Given the description of an element on the screen output the (x, y) to click on. 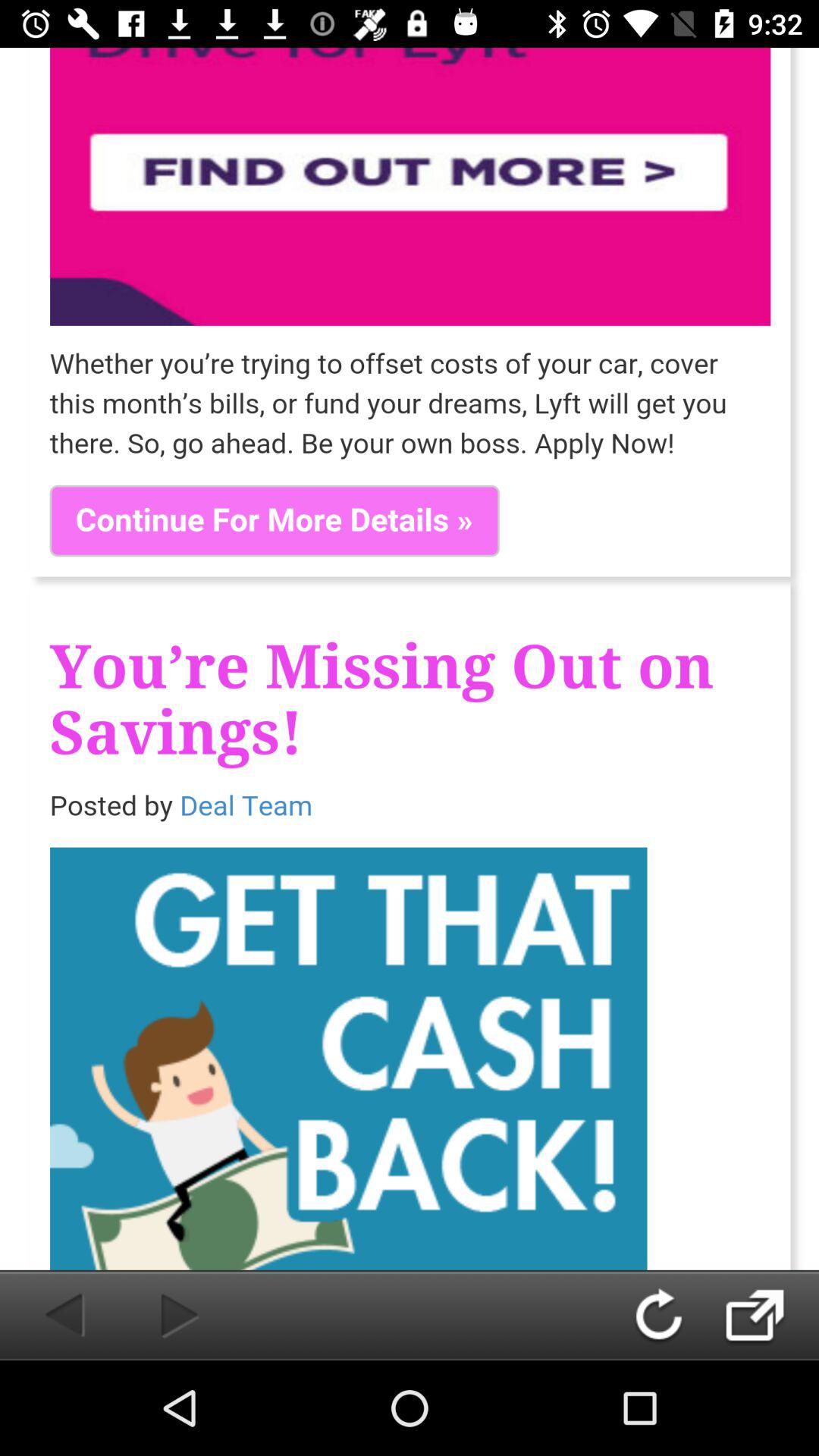
share article (770, 1315)
